Given the description of an element on the screen output the (x, y) to click on. 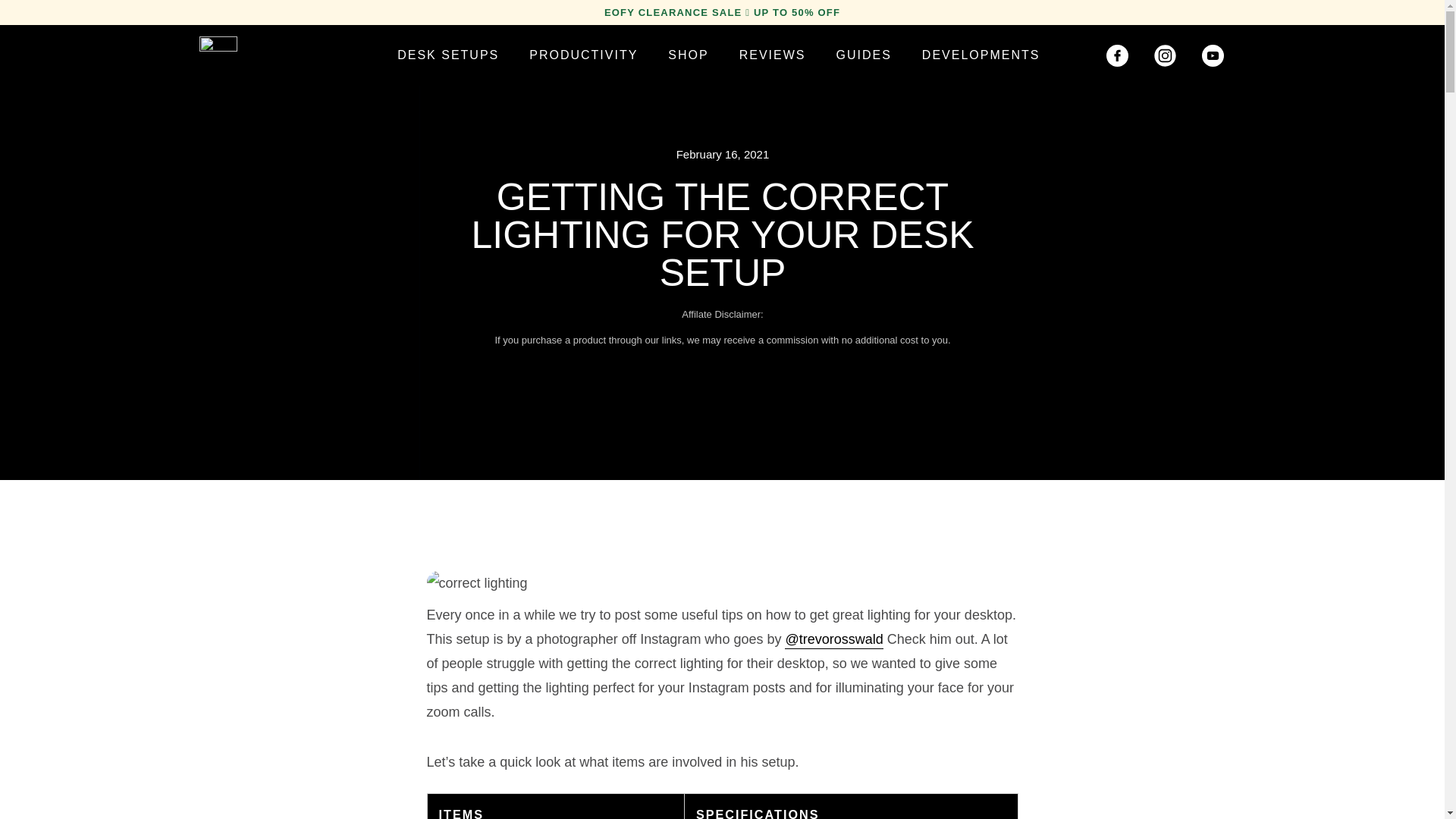
DESK SETUPS (447, 55)
February 16, 2021 (723, 154)
DEVELOPMENTS (981, 55)
GUIDES (863, 55)
PRODUCTIVITY (582, 55)
REVIEWS (772, 55)
SHOP (687, 55)
